Given the description of an element on the screen output the (x, y) to click on. 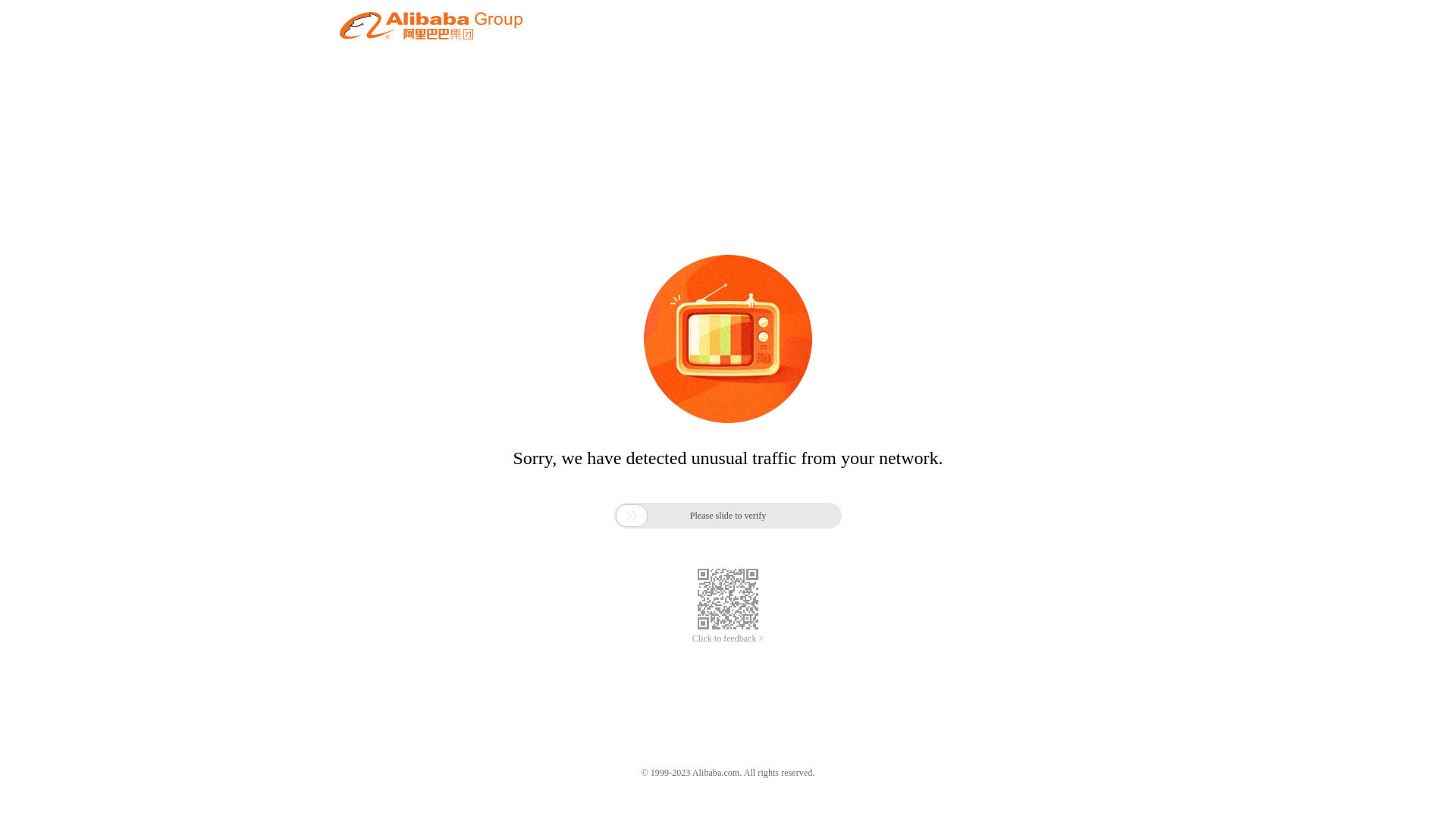
Click to feedback > Element type: text (727, 638)
